Given the description of an element on the screen output the (x, y) to click on. 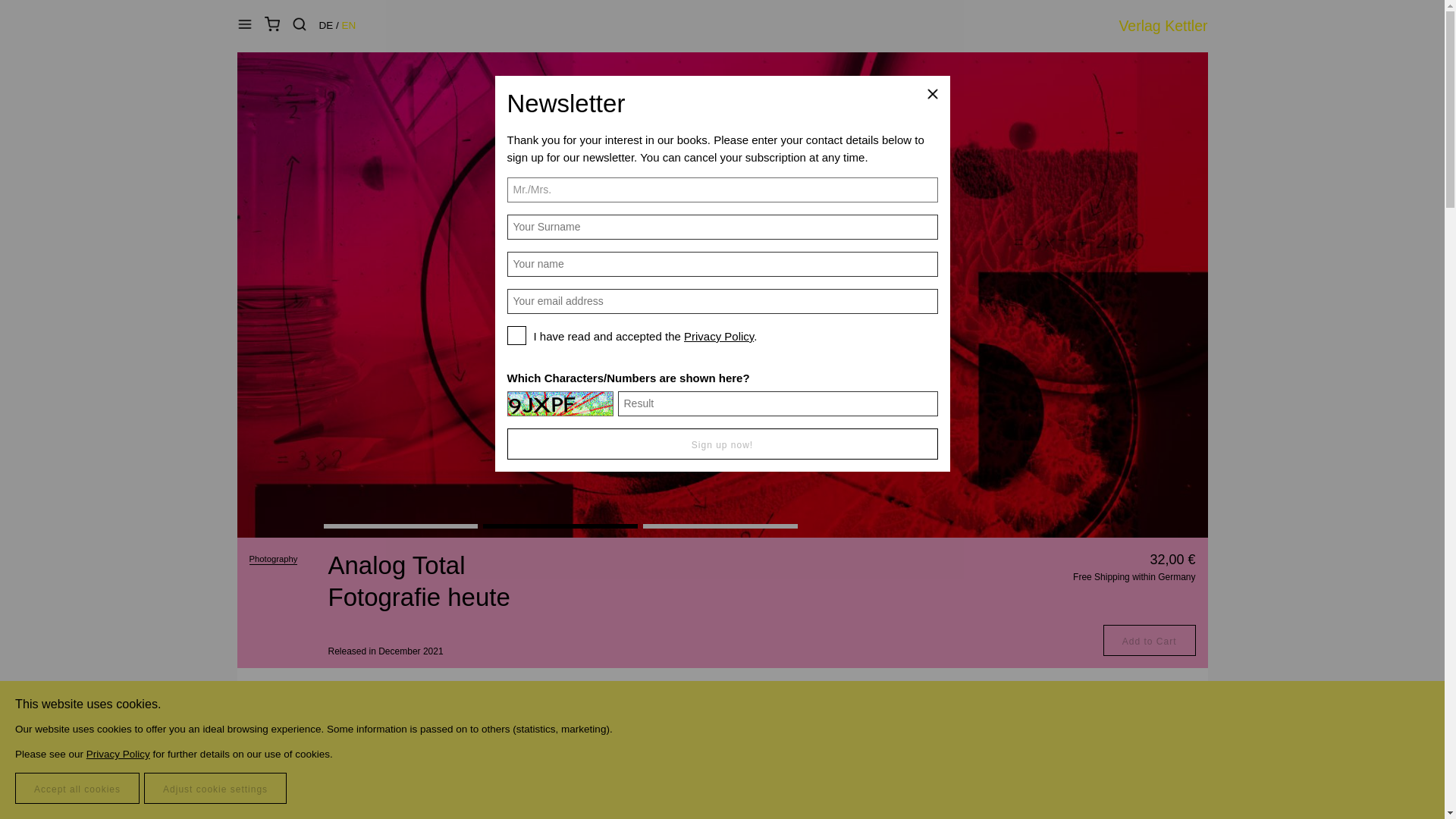
Privacy Policy (117, 754)
EN (349, 25)
Add to Cart (1149, 640)
Verlag Kettler (1159, 26)
Accept all cookies (76, 788)
Accept all cookies (76, 788)
Privacy Policy (719, 336)
Klicken, um das Captcha neu zu laden (559, 403)
Adjust cookie settings (215, 788)
Photography (272, 559)
Add to Cart (1149, 640)
DE (325, 25)
